Given the description of an element on the screen output the (x, y) to click on. 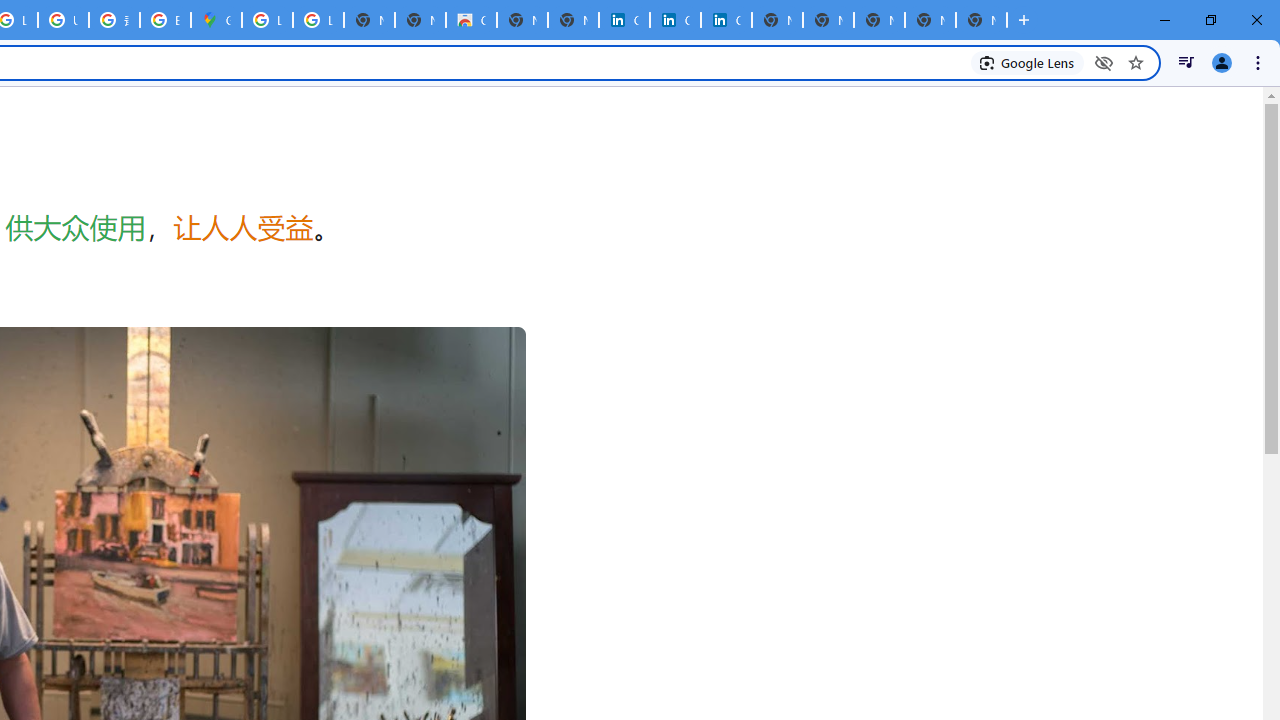
Google Maps (215, 20)
Cookie Policy | LinkedIn (675, 20)
Cookie Policy | LinkedIn (624, 20)
